Given the description of an element on the screen output the (x, y) to click on. 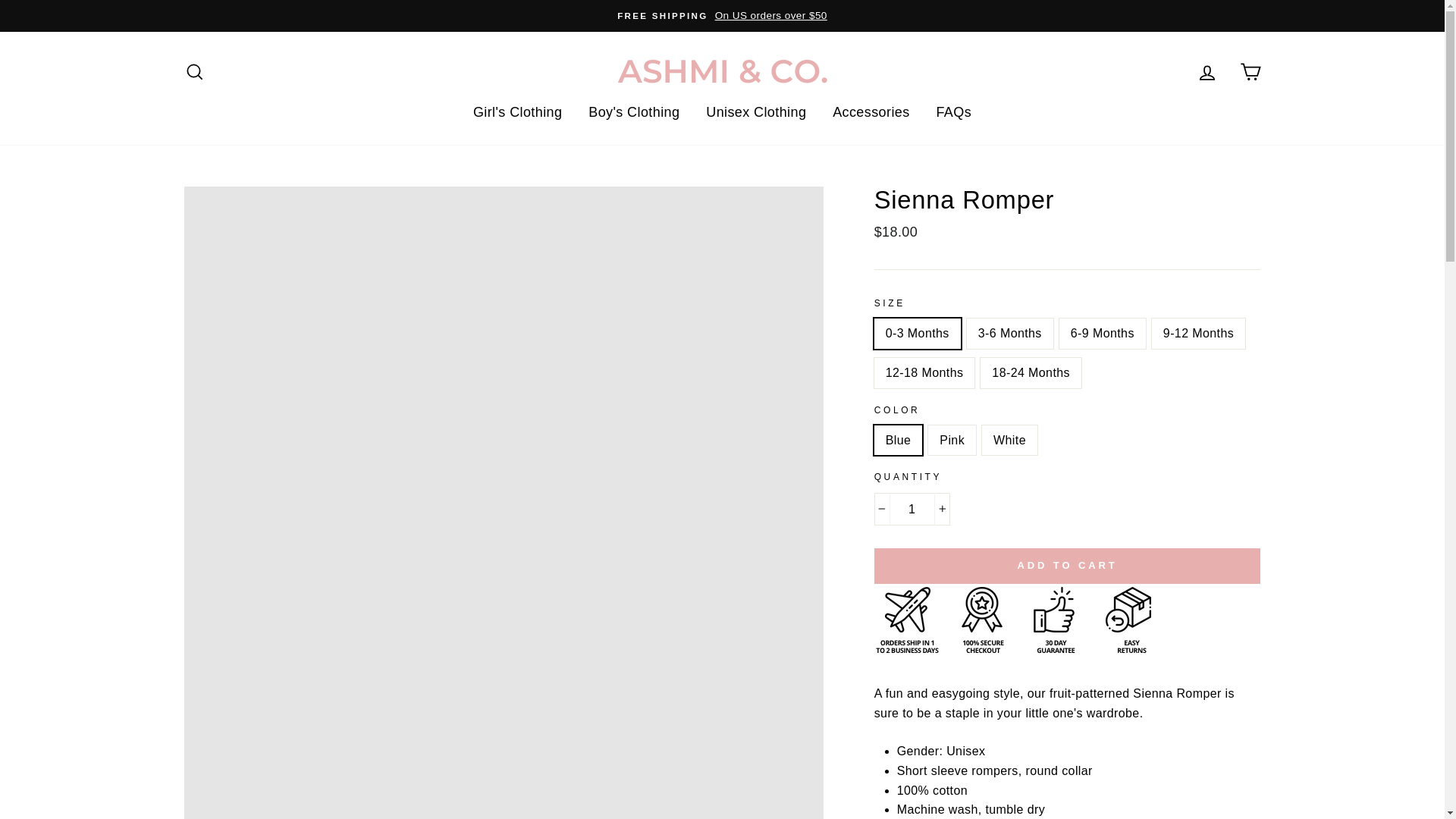
FAQs (953, 112)
Boy's Clothing (633, 112)
Unisex Clothing (755, 112)
Girl's Clothing (517, 112)
Search (194, 70)
Log in (1207, 70)
Accessories (870, 112)
